Given the description of an element on the screen output the (x, y) to click on. 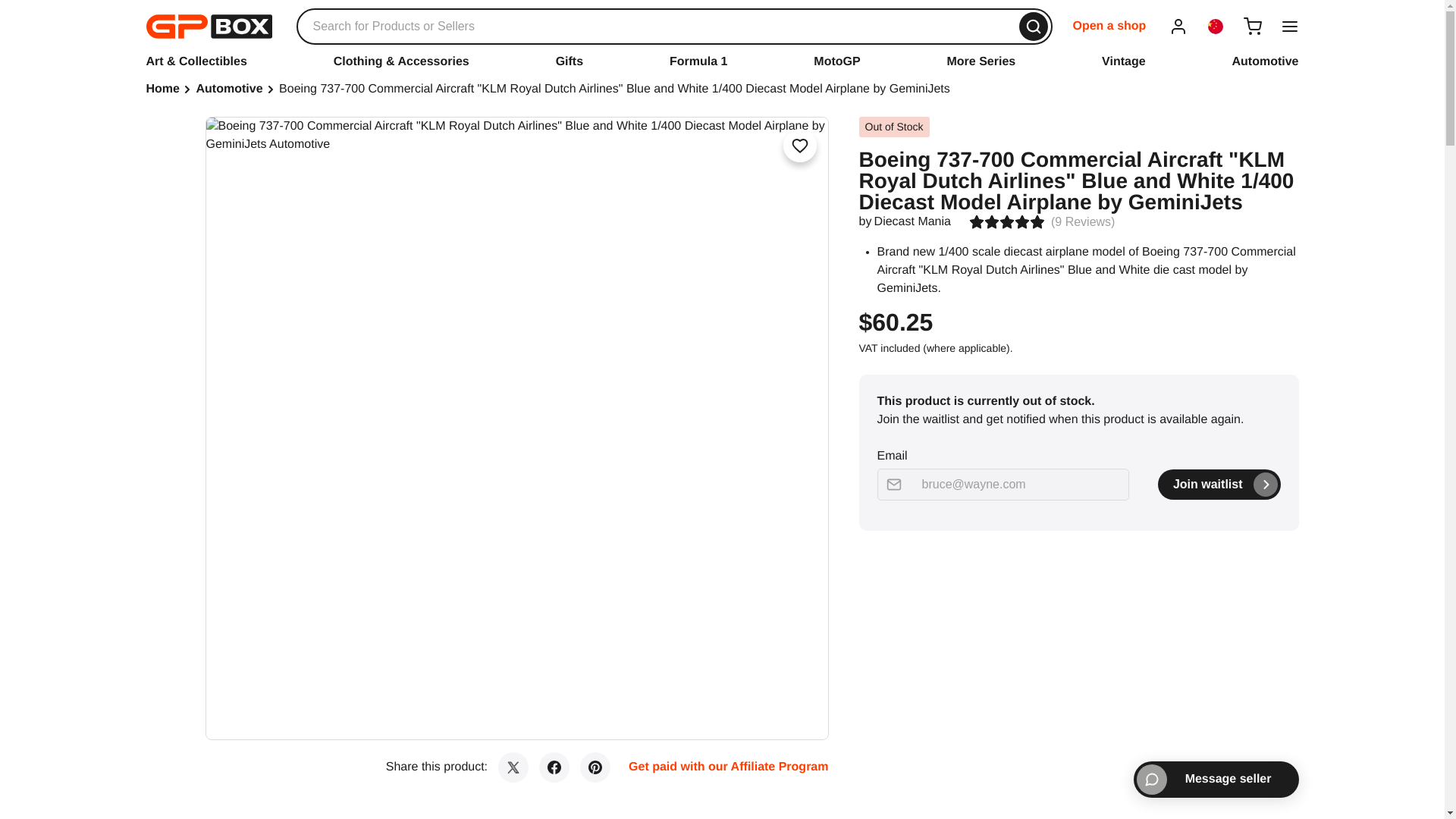
Shopping Cart (1252, 26)
Search Submit (1033, 26)
Click to see share on Pinterest (594, 767)
Vintage (1123, 61)
GPBox (207, 26)
Click to see share on Twitter (512, 767)
Automotive (1264, 61)
Click to see share on Facebook (553, 767)
Search Submit (1033, 26)
Gifts (569, 61)
Main Menu (1289, 26)
Search for Products or Sellers (673, 26)
Current Country Flag (1214, 26)
Open a shop (1108, 26)
Formula 1 (697, 61)
